Given the description of an element on the screen output the (x, y) to click on. 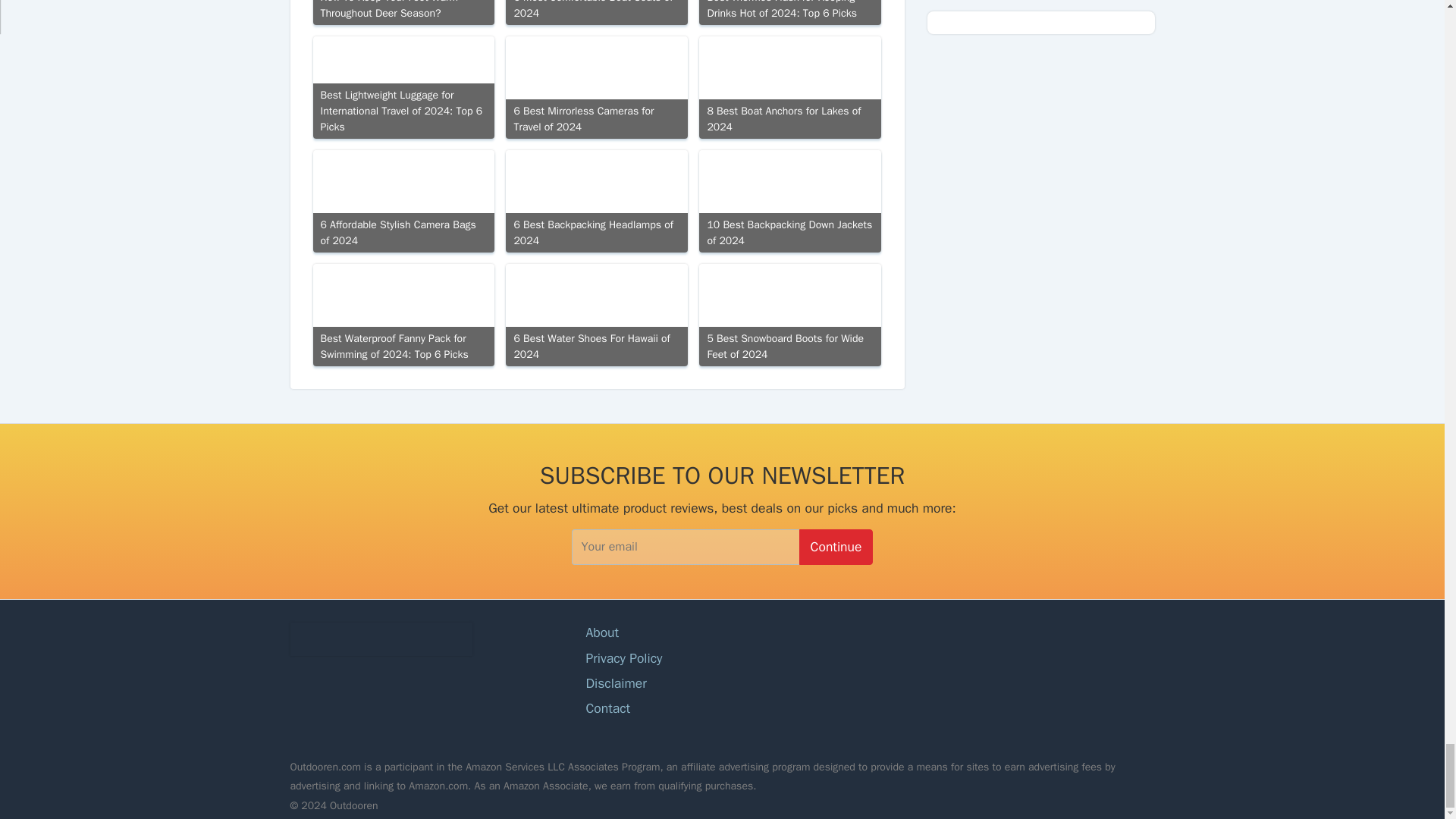
6 Best Backpacking Headlamps of 2024 (596, 200)
Best Waterproof Fanny Pack for Swimming of 2024: Top 6 Picks (404, 314)
8 Best Boat Anchors for Lakes of 2024 (789, 87)
6 Most Comfortable Boat Seats of 2024 (596, 12)
10 Best Backpacking Down Jackets of 2024 (789, 200)
6 Affordable Stylish Camera Bags of 2024 (404, 200)
6 Best Mirrorless Cameras for Travel of 2024 (596, 87)
6 Best Water Shoes For Hawaii of 2024 (596, 314)
